Given the description of an element on the screen output the (x, y) to click on. 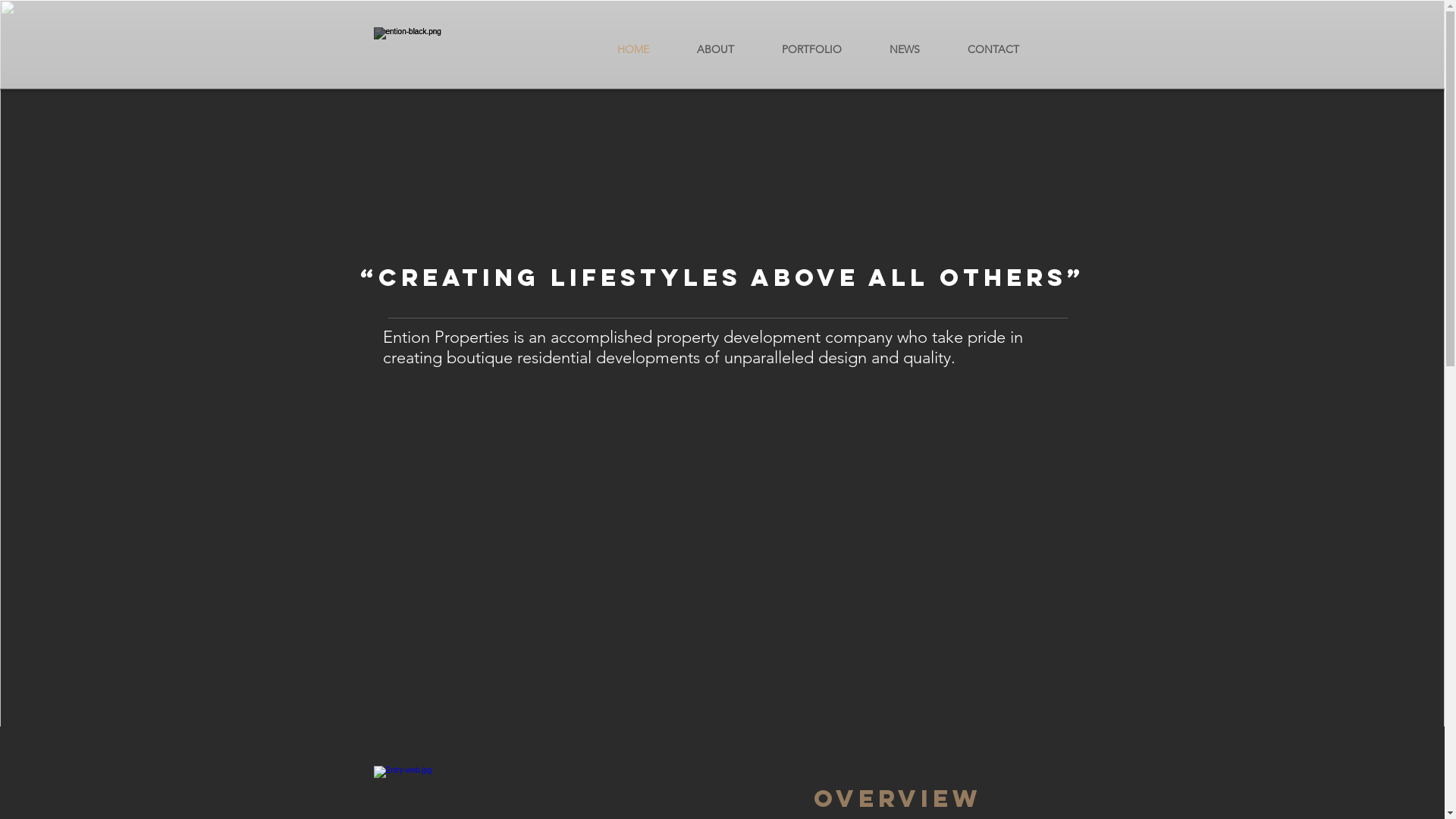
HOME Element type: text (632, 48)
NEWS Element type: text (905, 48)
CONTACT Element type: text (992, 48)
PORTFOLIO Element type: text (812, 48)
ABOUT Element type: text (715, 48)
OVERVIEW Element type: text (896, 798)
